Given the description of an element on the screen output the (x, y) to click on. 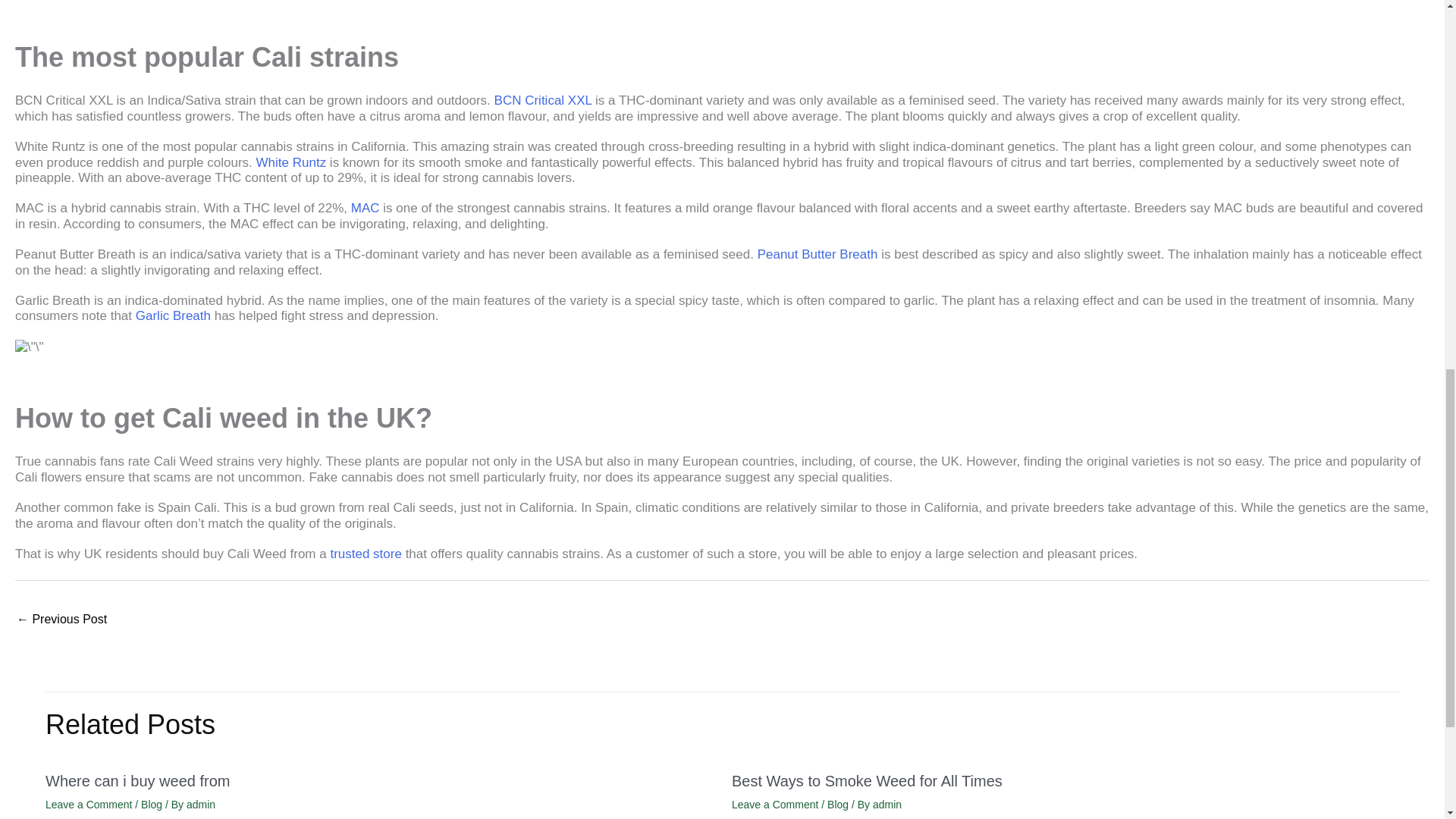
MAC (365, 207)
Peanut Butter Breath (817, 254)
View all posts by admin (200, 804)
White Runtz (291, 162)
BCN Critical XXL (543, 100)
View all posts by admin (886, 804)
Where can i buy weed from (137, 781)
Garlic Breath (173, 315)
trusted store (365, 554)
Best Ways to Smoke Weed for All Times (61, 620)
